Given the description of an element on the screen output the (x, y) to click on. 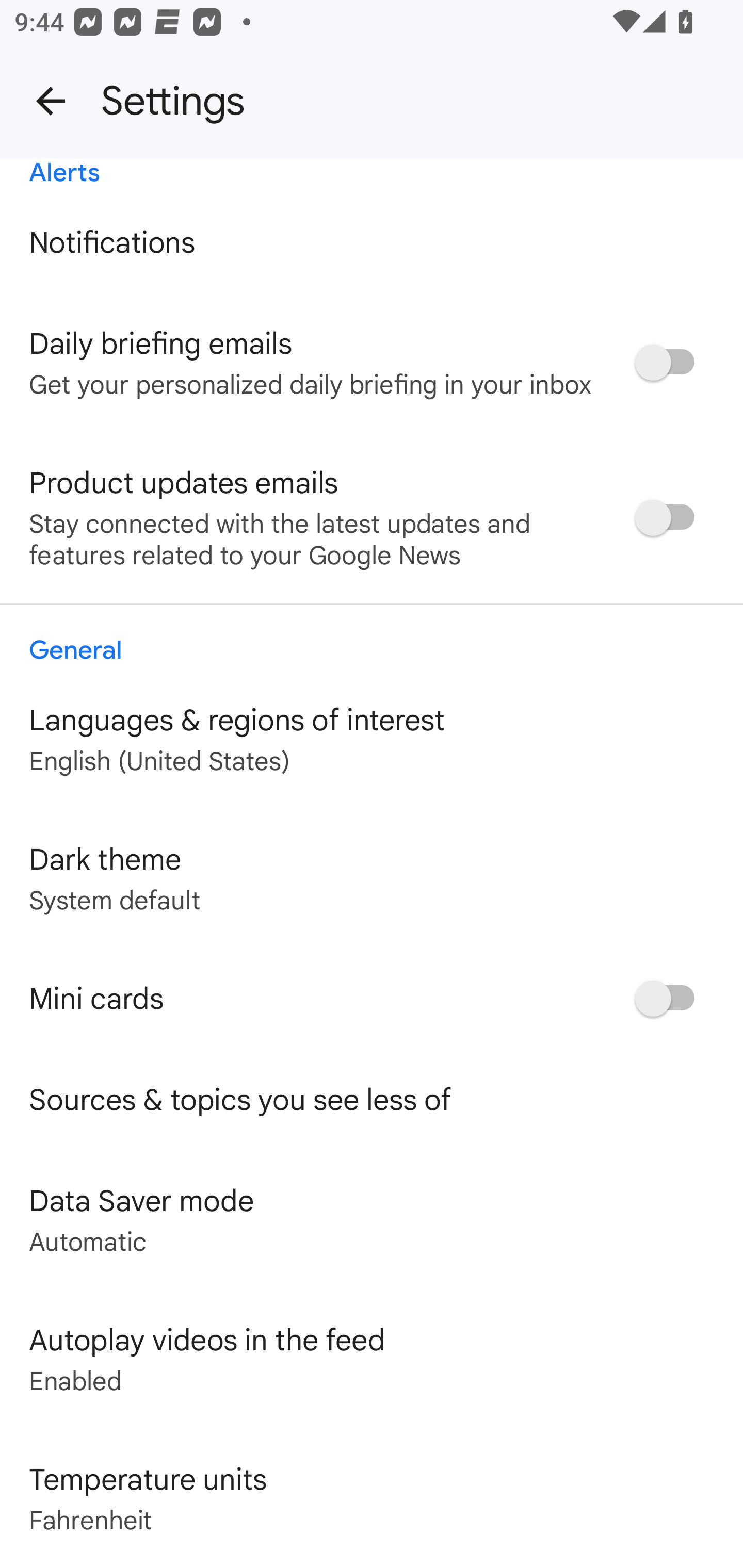
Navigate up (50, 101)
Notifications (371, 242)
Dark theme System default (371, 878)
Mini cards (371, 998)
Sources & topics you see less of (371, 1099)
Data Saver mode Automatic (371, 1219)
Autoplay videos in the feed Enabled (371, 1358)
Temperature units Fahrenheit (371, 1498)
